Given the description of an element on the screen output the (x, y) to click on. 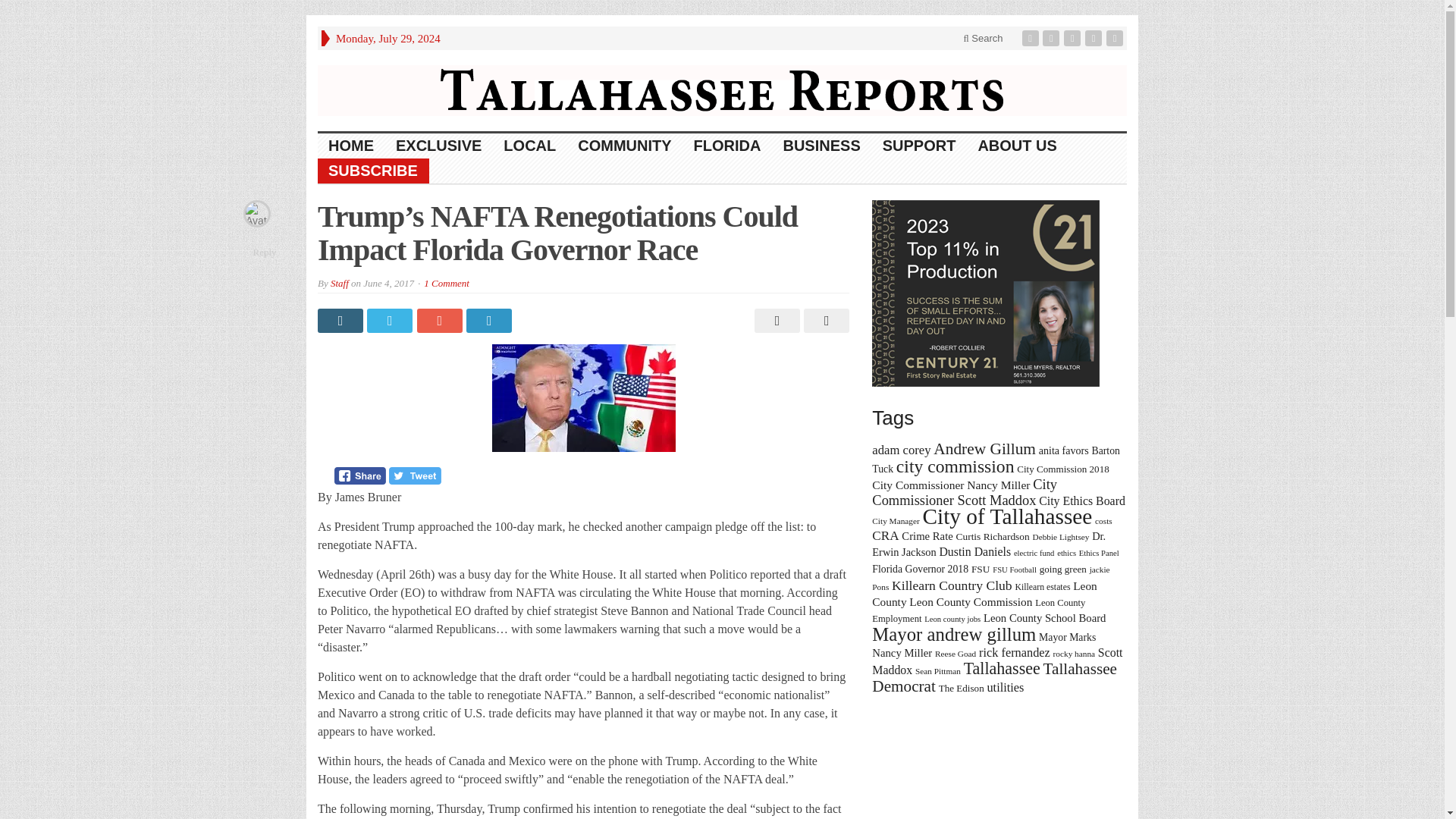
EXCLUSIVE (439, 145)
Online News (721, 90)
Site feed (1115, 37)
HOME (351, 145)
ABOUT US (1016, 145)
FLORIDA (727, 145)
COMMUNITY (624, 145)
Search (982, 37)
Facebook (1032, 37)
Twitter (1052, 37)
SUBSCRIBE (373, 170)
BUSINESS (820, 145)
SUPPORT (920, 145)
LOCAL (530, 145)
Youtube (1094, 37)
